Given the description of an element on the screen output the (x, y) to click on. 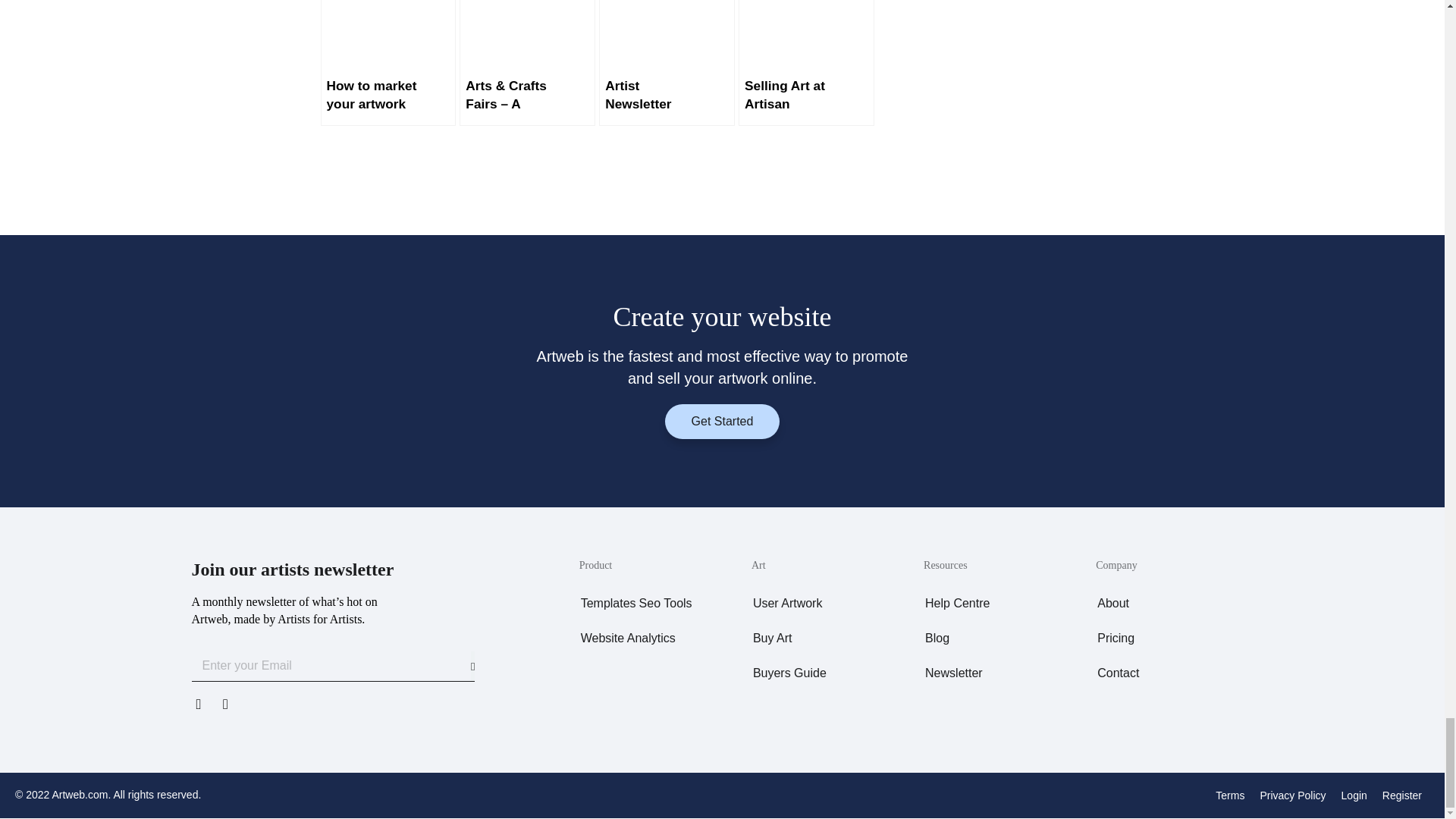
Selling Art at Artisan Markets: Tips for Success (806, 63)
Artist Newsletter December 2011- Arts and Craft fairs! (666, 63)
How to market your artwork for Christmas (387, 63)
